Given the description of an element on the screen output the (x, y) to click on. 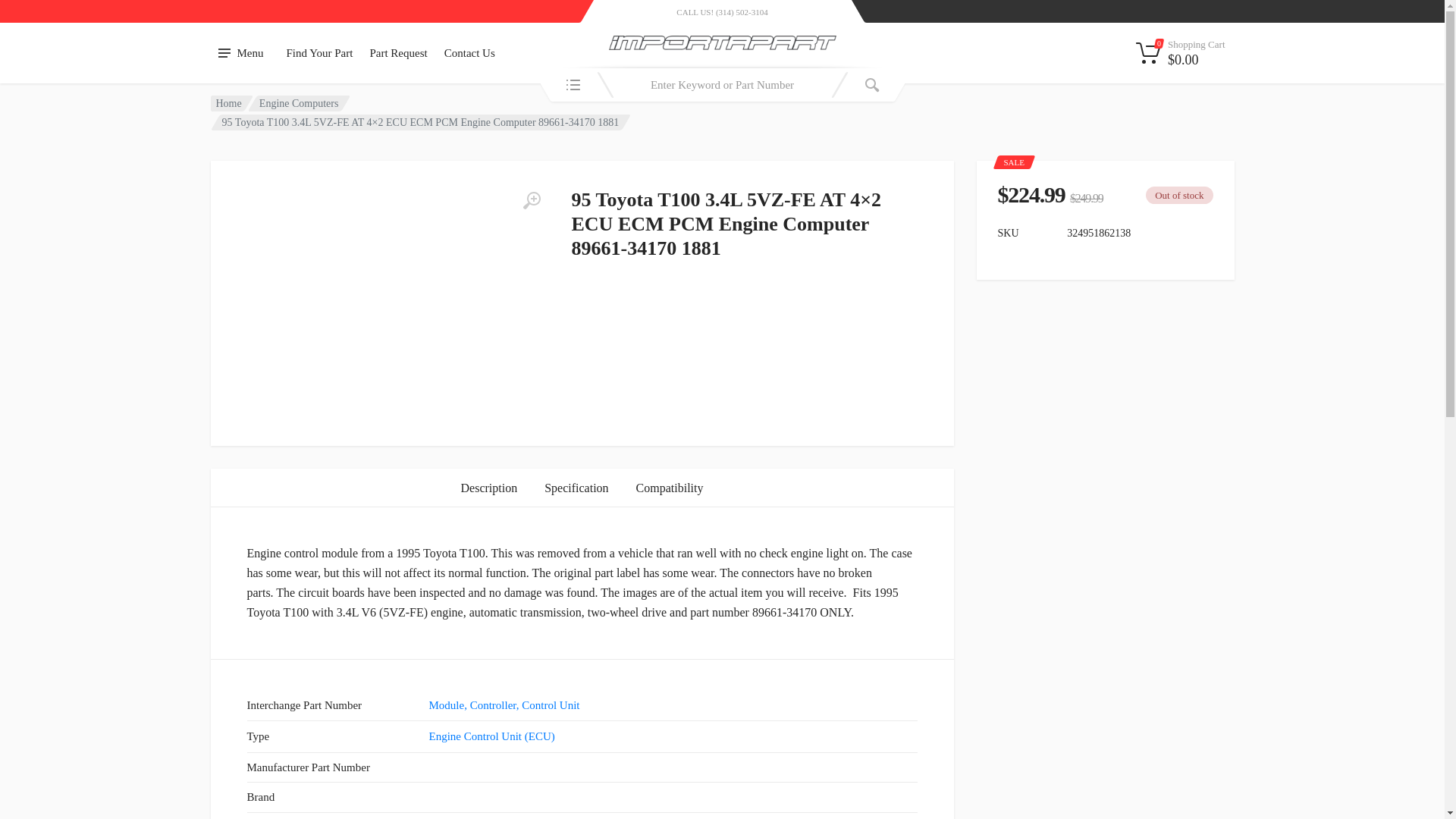
Home (228, 102)
Contact Us (469, 53)
Compatibility (670, 487)
Module, Controller, Control Unit (504, 705)
Menu (241, 53)
Specification (576, 487)
Engine Computers (299, 102)
Find Your Part (319, 53)
Description (488, 487)
Part Request (398, 53)
